Given the description of an element on the screen output the (x, y) to click on. 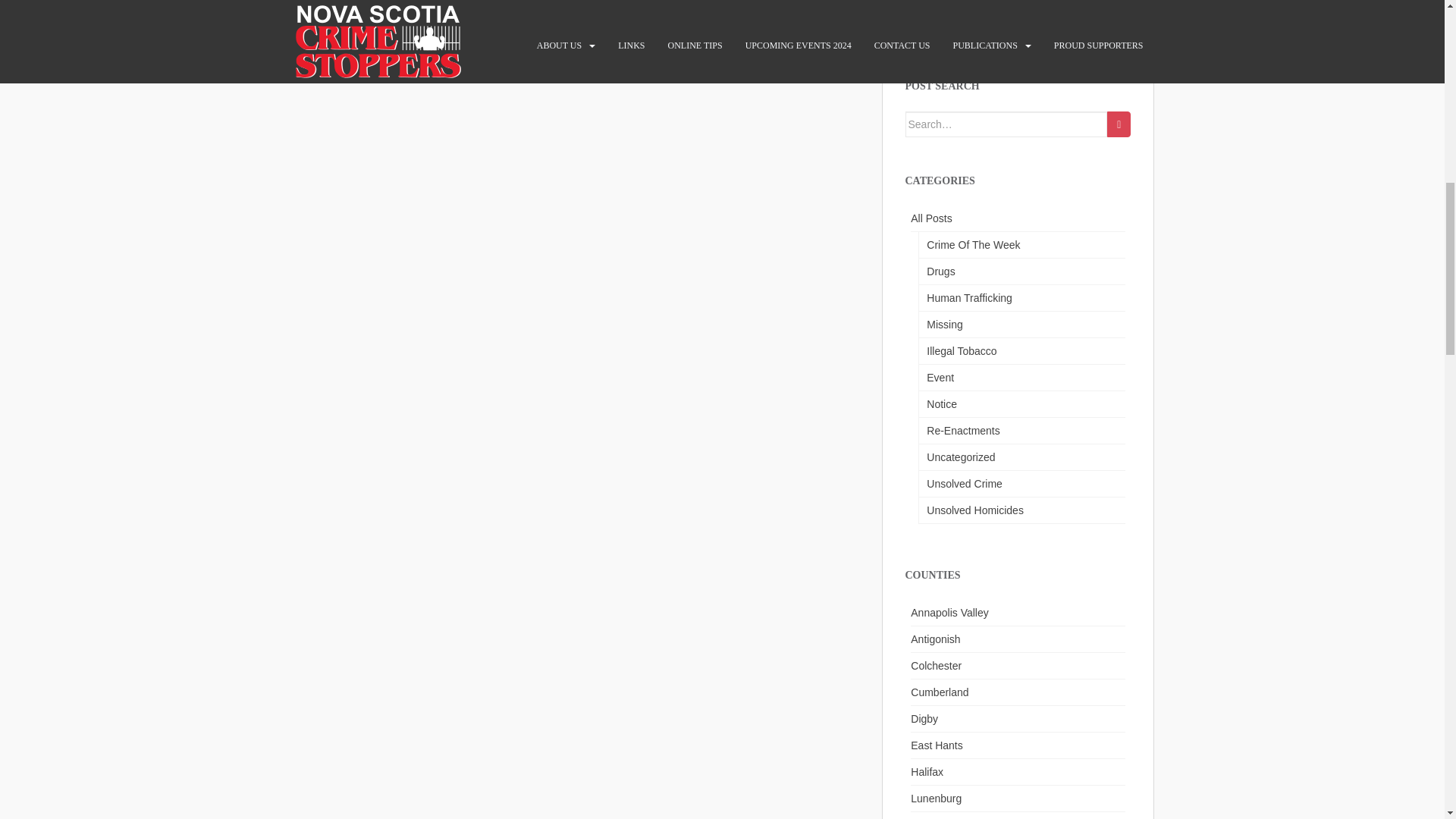
Search for: (1006, 124)
Notice (1021, 404)
Search (1118, 124)
Printable Donation Form (962, 24)
Drugs (1021, 271)
Event (1021, 377)
Illegal Tobacco (1021, 351)
Crime Of The Week (1021, 244)
Human Trafficking (1021, 298)
All Posts (1017, 218)
